Given the description of an element on the screen output the (x, y) to click on. 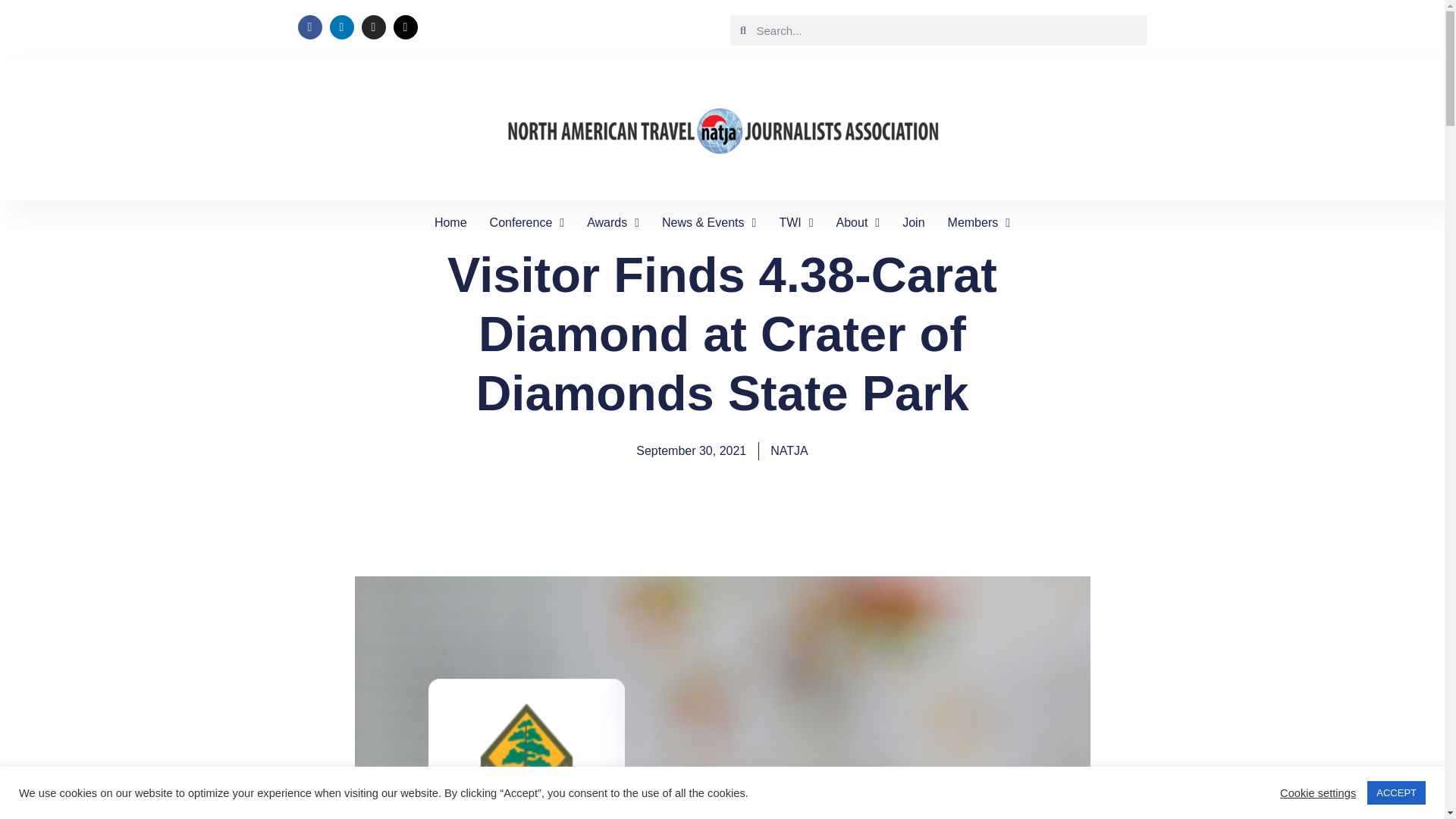
Conference (526, 222)
TWI (795, 222)
Awards (612, 222)
Join (913, 222)
About (857, 222)
Home (450, 222)
Members (978, 222)
